Given the description of an element on the screen output the (x, y) to click on. 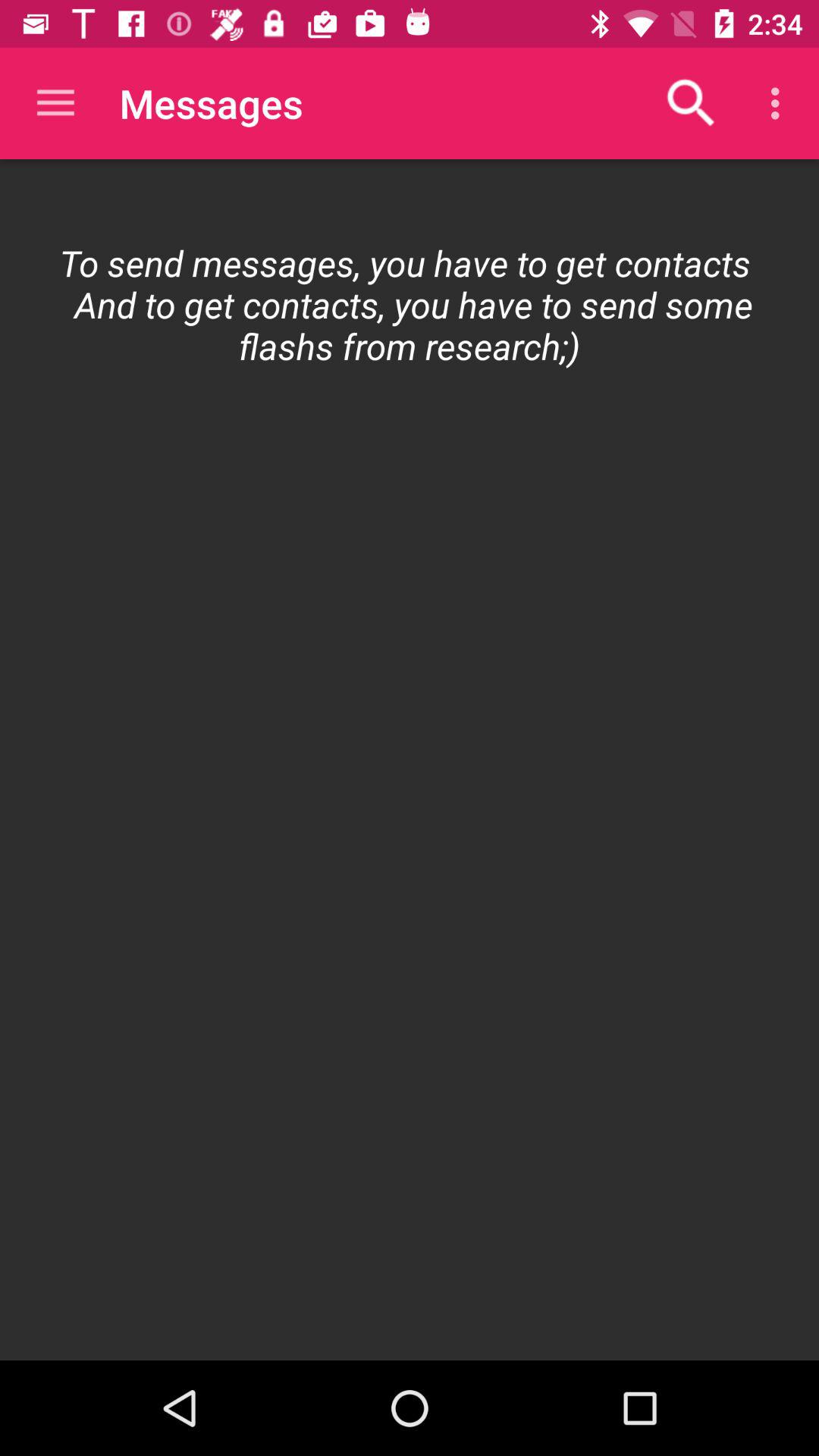
turn off item above the to send messages item (779, 103)
